Given the description of an element on the screen output the (x, y) to click on. 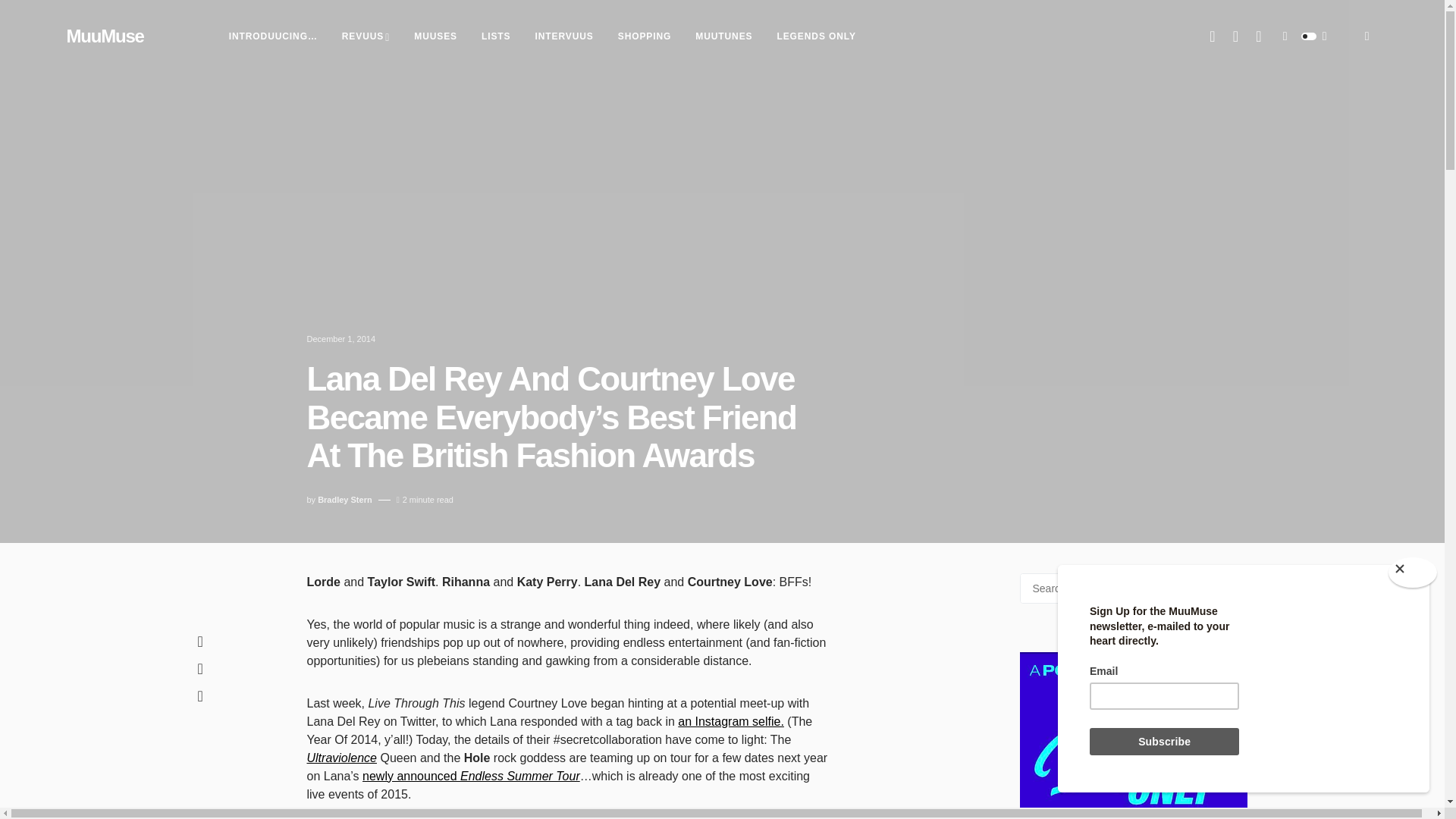
MuuMuse (105, 35)
LEGENDS ONLY (816, 36)
View all posts by Bradley Stern (344, 499)
